Given the description of an element on the screen output the (x, y) to click on. 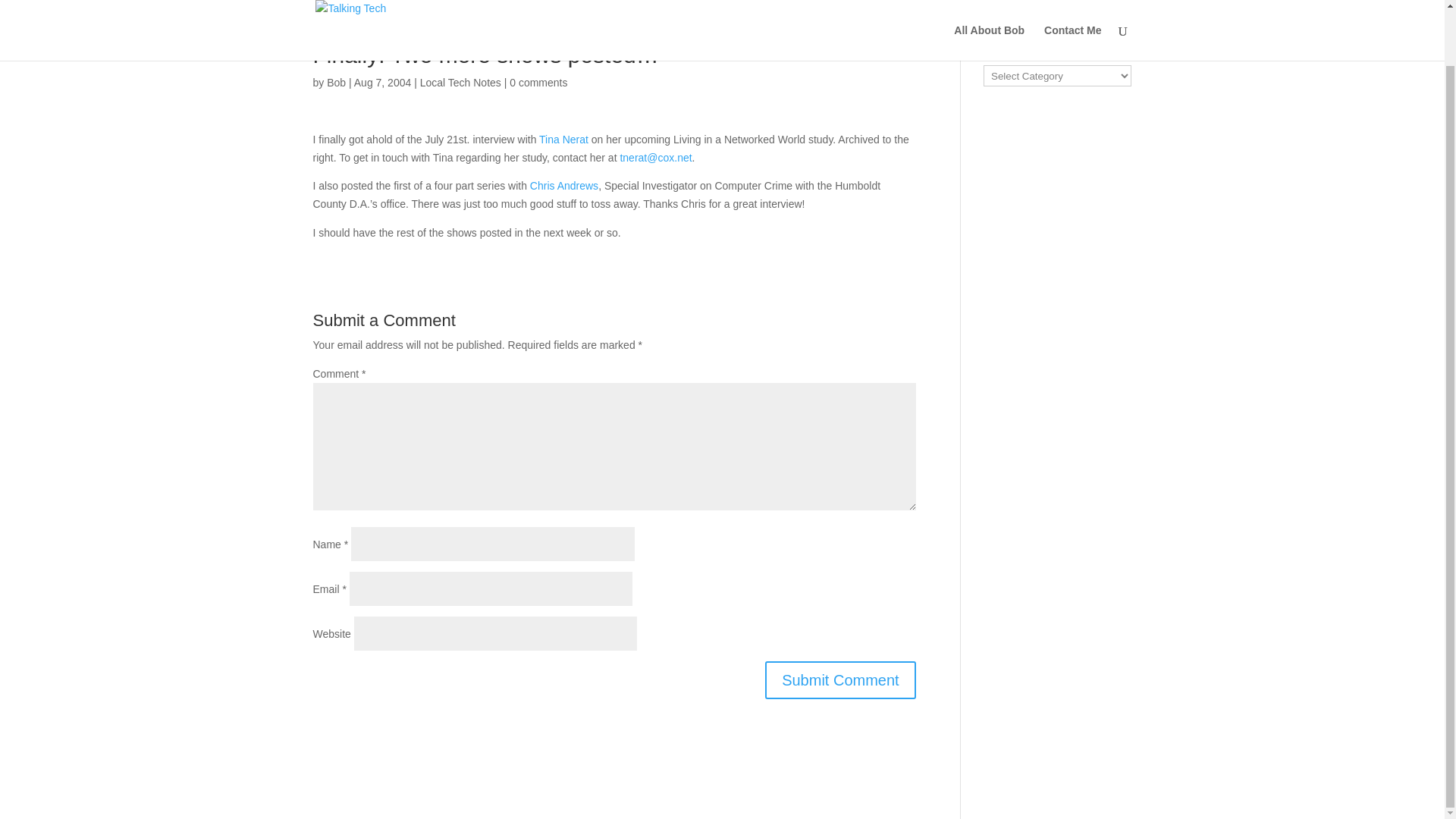
Submit Comment (840, 679)
Submit Comment (840, 679)
Tina Nerat (563, 139)
Posts by Bob (336, 82)
Local Tech Notes (460, 82)
0 comments (538, 82)
Chris Andrews (563, 185)
Bob (336, 82)
